Given the description of an element on the screen output the (x, y) to click on. 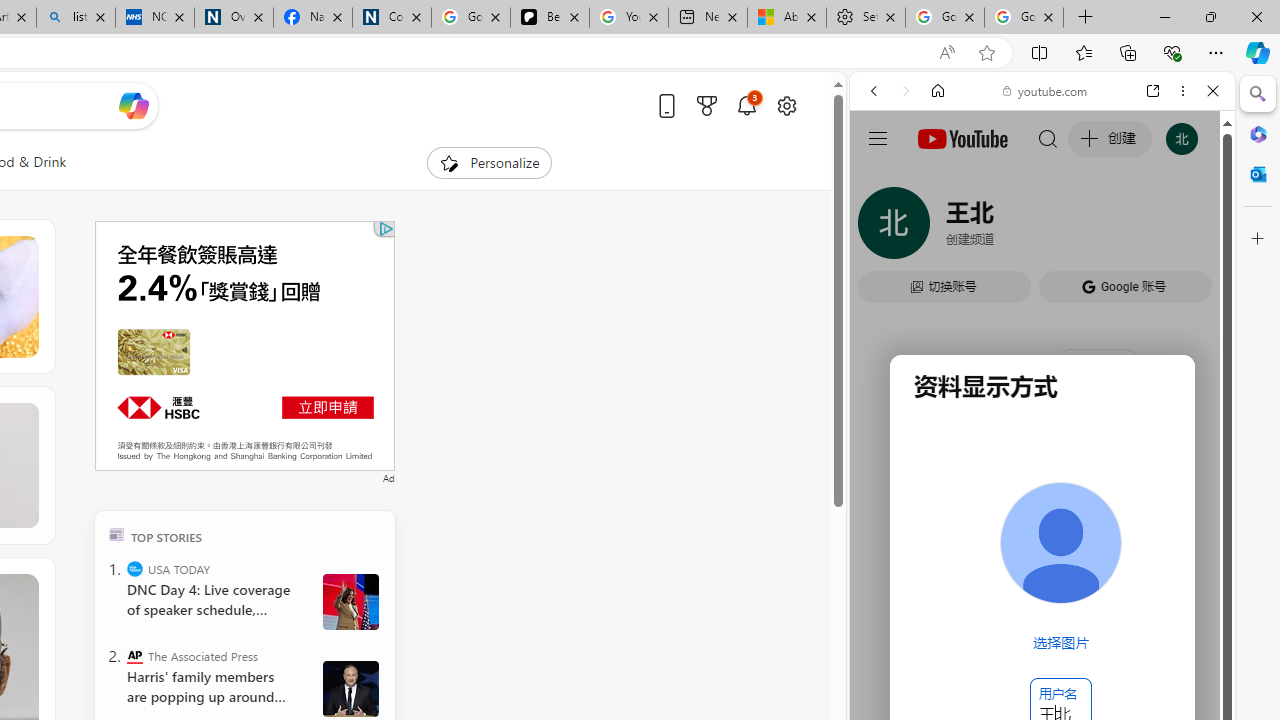
Class: b_serphb (1190, 229)
Google (947, 584)
The Associated Press (134, 655)
WEB   (882, 228)
Preferences (1189, 228)
